Given the description of an element on the screen output the (x, y) to click on. 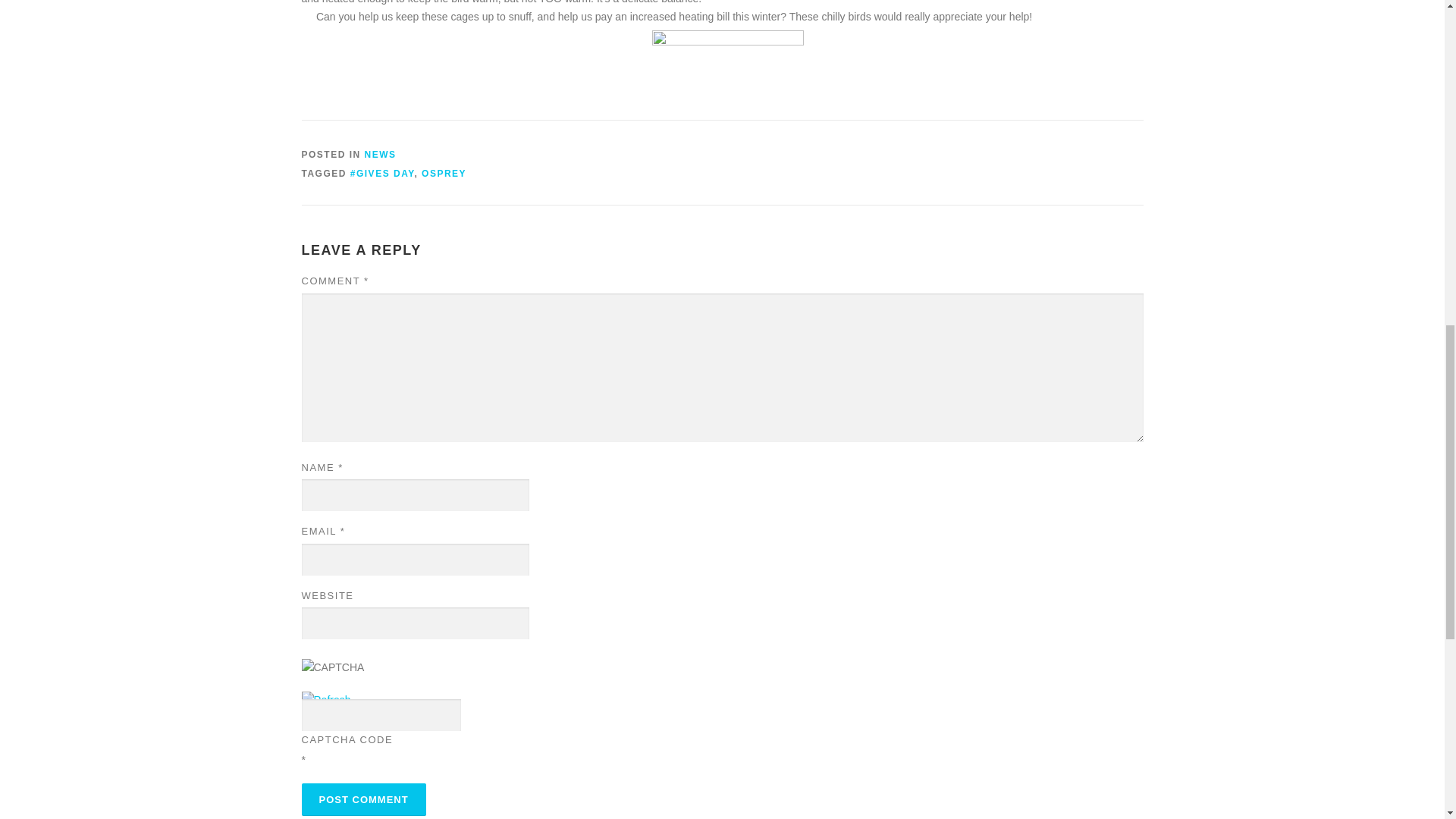
CAPTCHA (351, 675)
Post Comment (363, 798)
Refresh (325, 699)
